Given the description of an element on the screen output the (x, y) to click on. 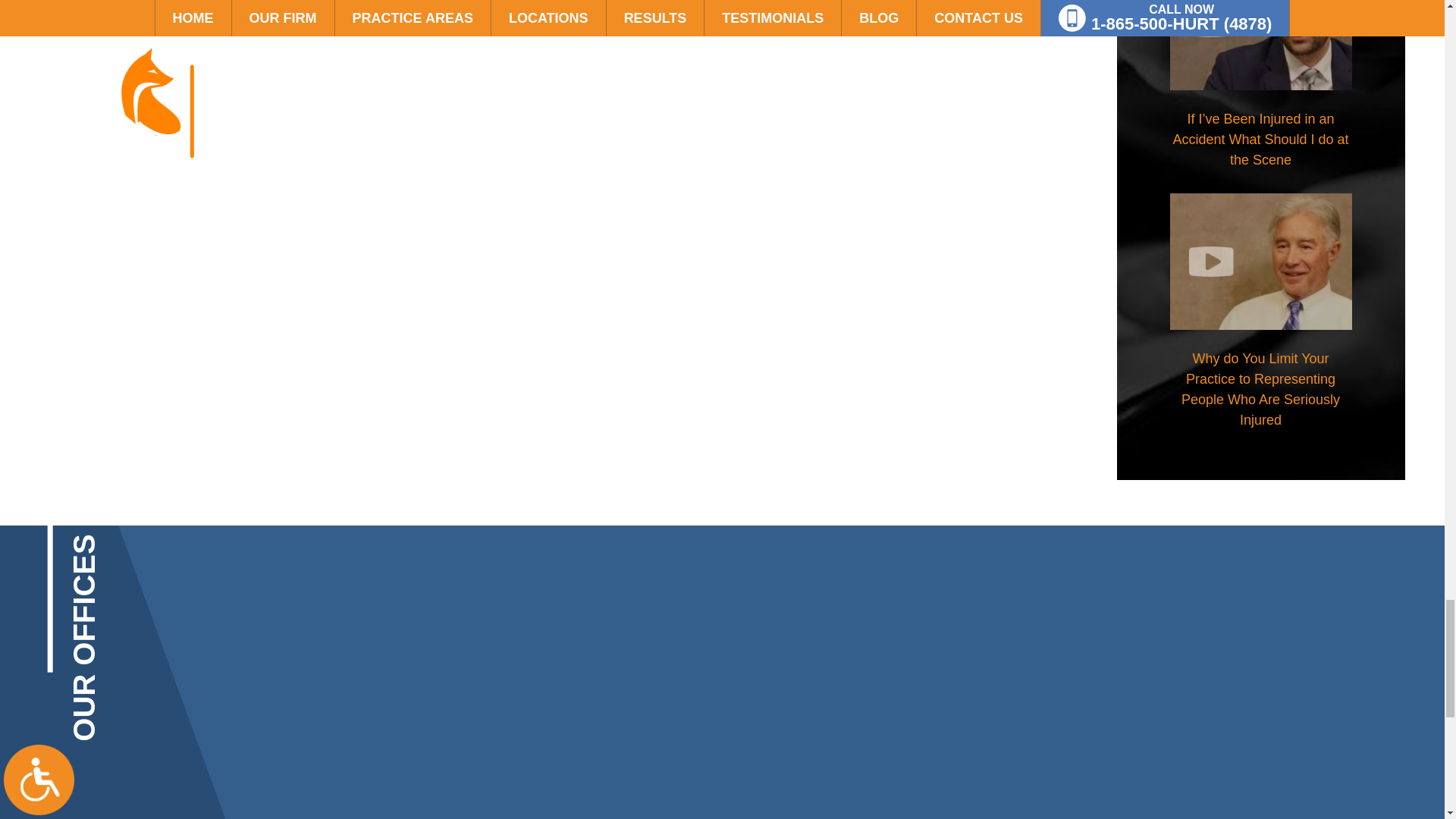
Tennessee Personal Injury FAQ 2 (1260, 44)
